Given the description of an element on the screen output the (x, y) to click on. 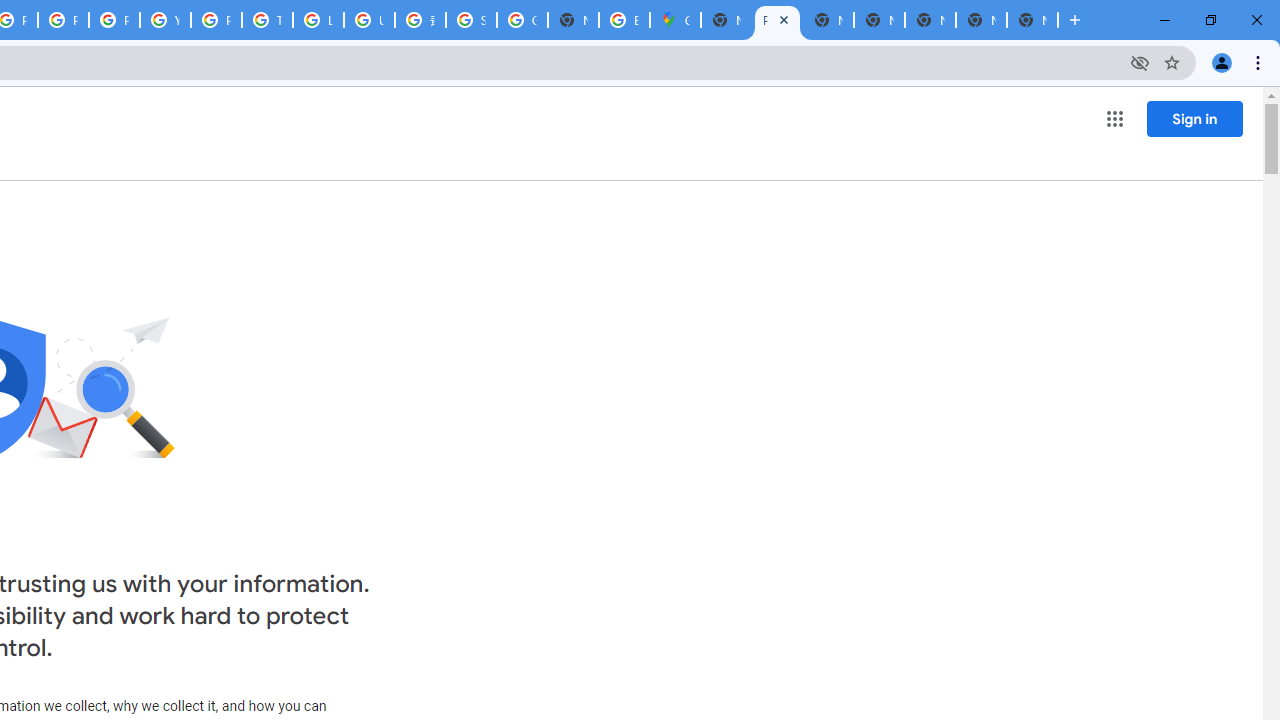
Explore new street-level details - Google Maps Help (624, 20)
Sign in - Google Accounts (470, 20)
New Tab (1032, 20)
